Given the description of an element on the screen output the (x, y) to click on. 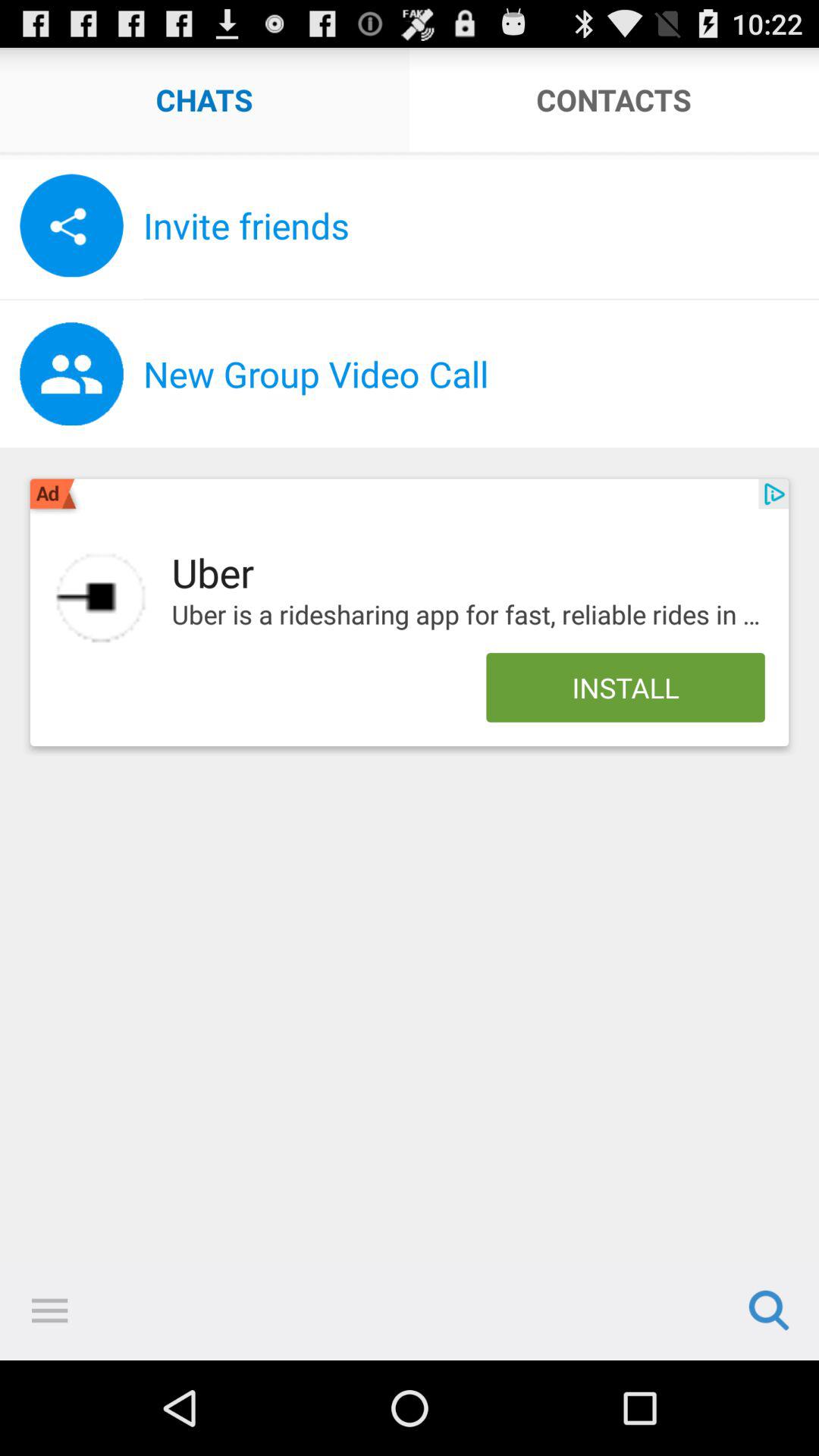
choose the invite friends (481, 225)
